Given the description of an element on the screen output the (x, y) to click on. 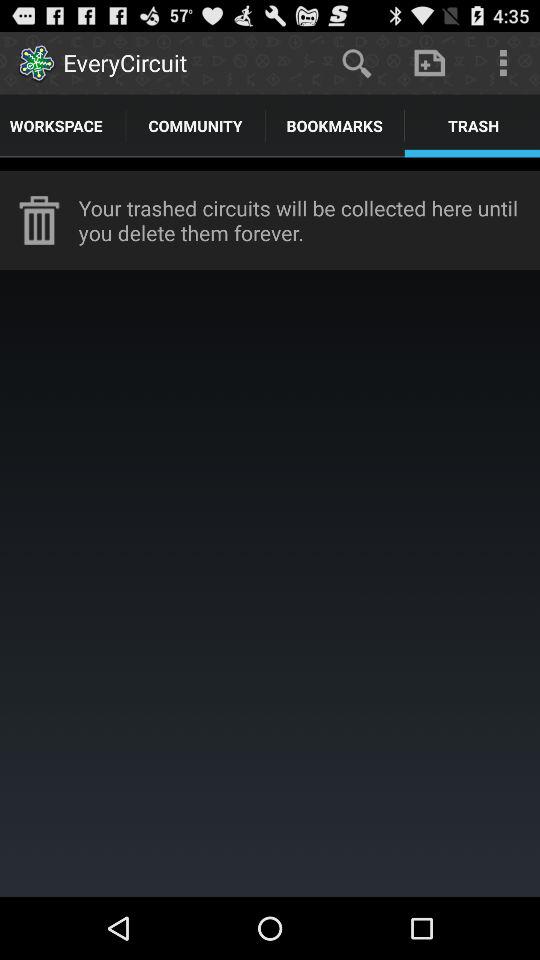
turn on app below workspace item (270, 163)
